Given the description of an element on the screen output the (x, y) to click on. 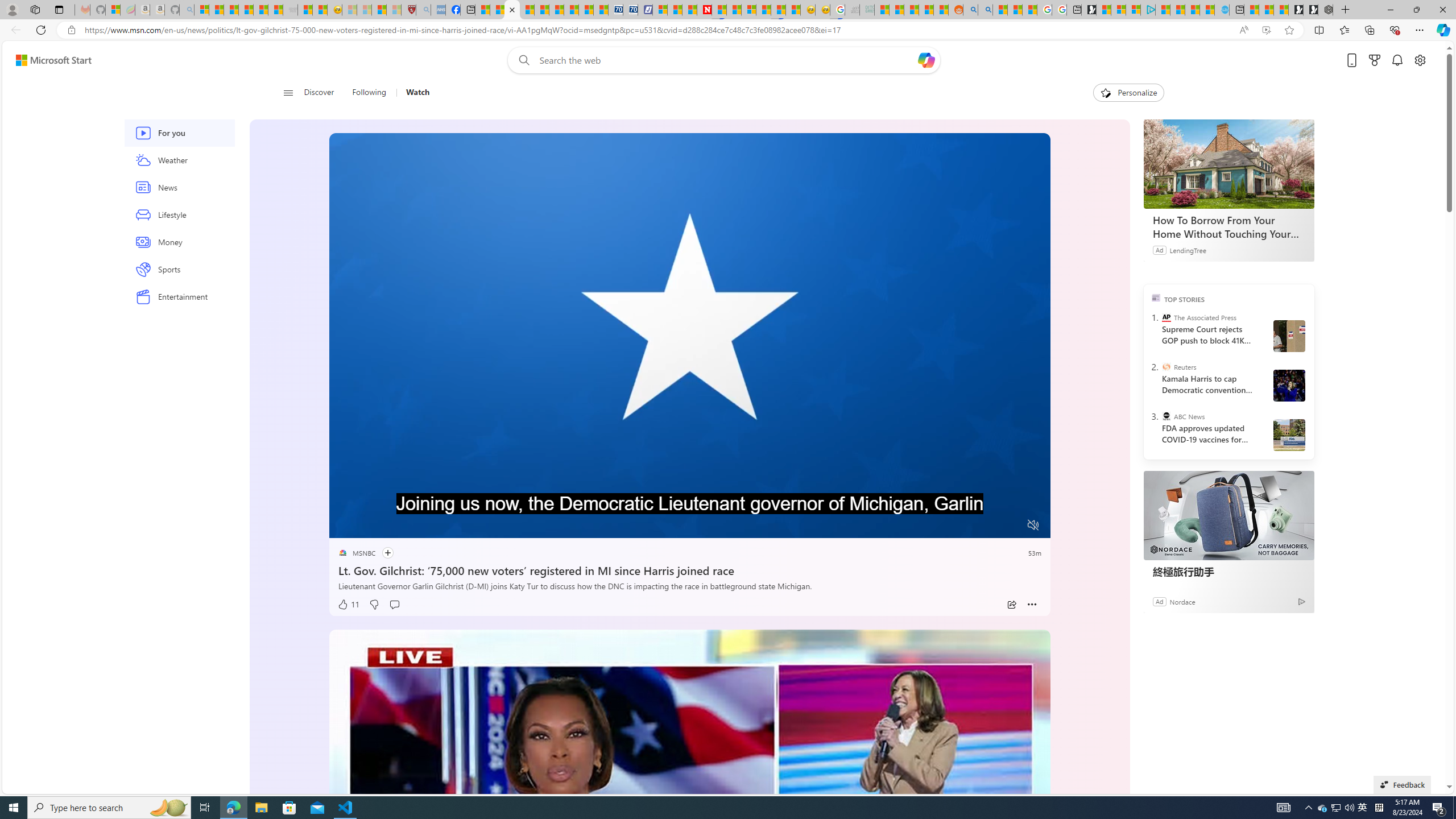
The Weather Channel - MSN (230, 9)
11 Like (347, 604)
Student Loan Update: Forgiveness Program Ends This Month (926, 9)
